Given the description of an element on the screen output the (x, y) to click on. 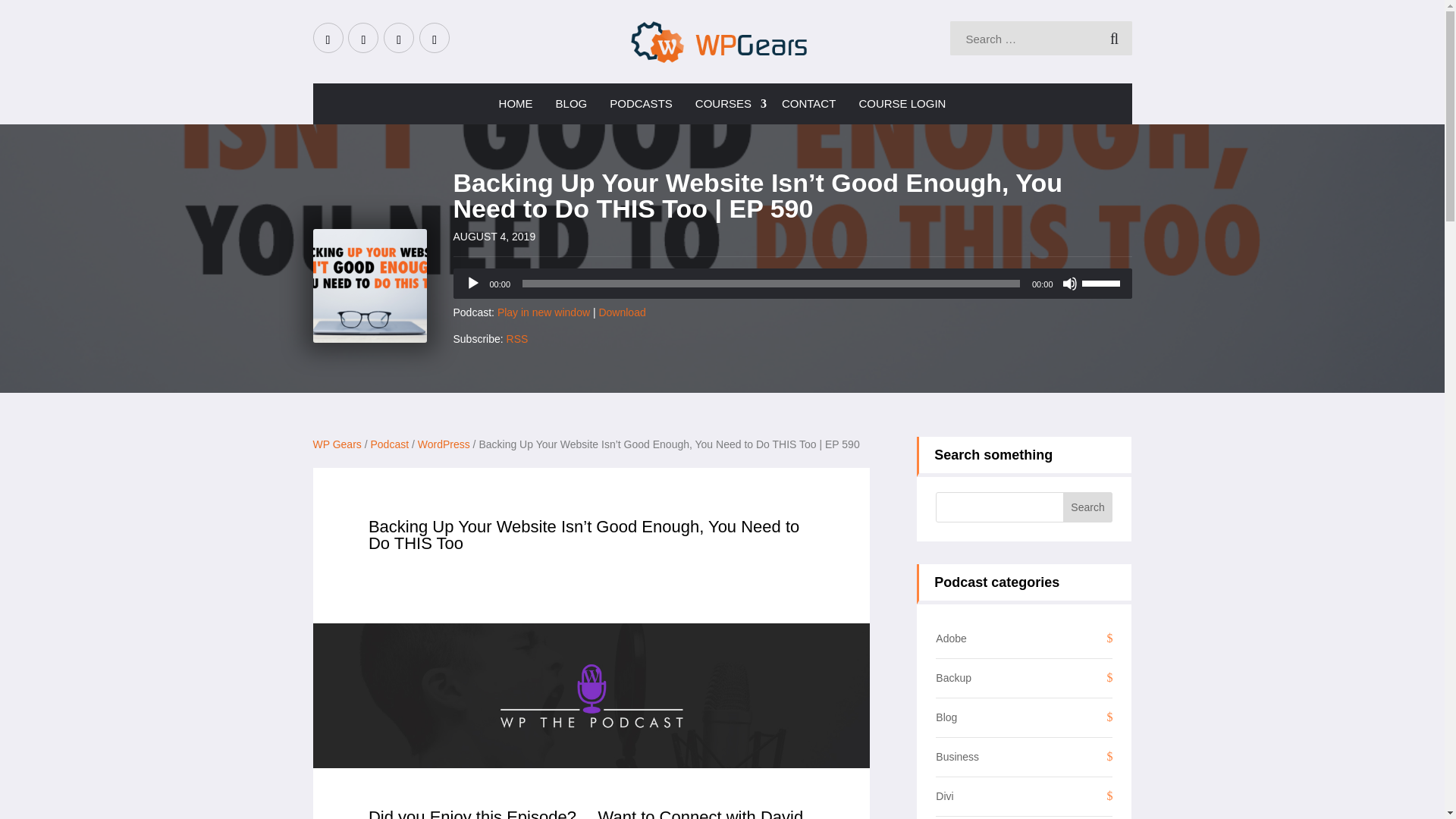
Go to WP Gears. (337, 444)
Search (1087, 507)
RSS (517, 338)
Adobe (951, 638)
Mute (1069, 283)
Play (472, 283)
Play in new window (543, 312)
Play in new window (543, 312)
COURSE LOGIN (901, 103)
BLOG (571, 103)
Podcast (389, 444)
COURSES (727, 103)
Subscribe via RSS (517, 338)
Download (621, 312)
Go to Podcast. (389, 444)
